Given the description of an element on the screen output the (x, y) to click on. 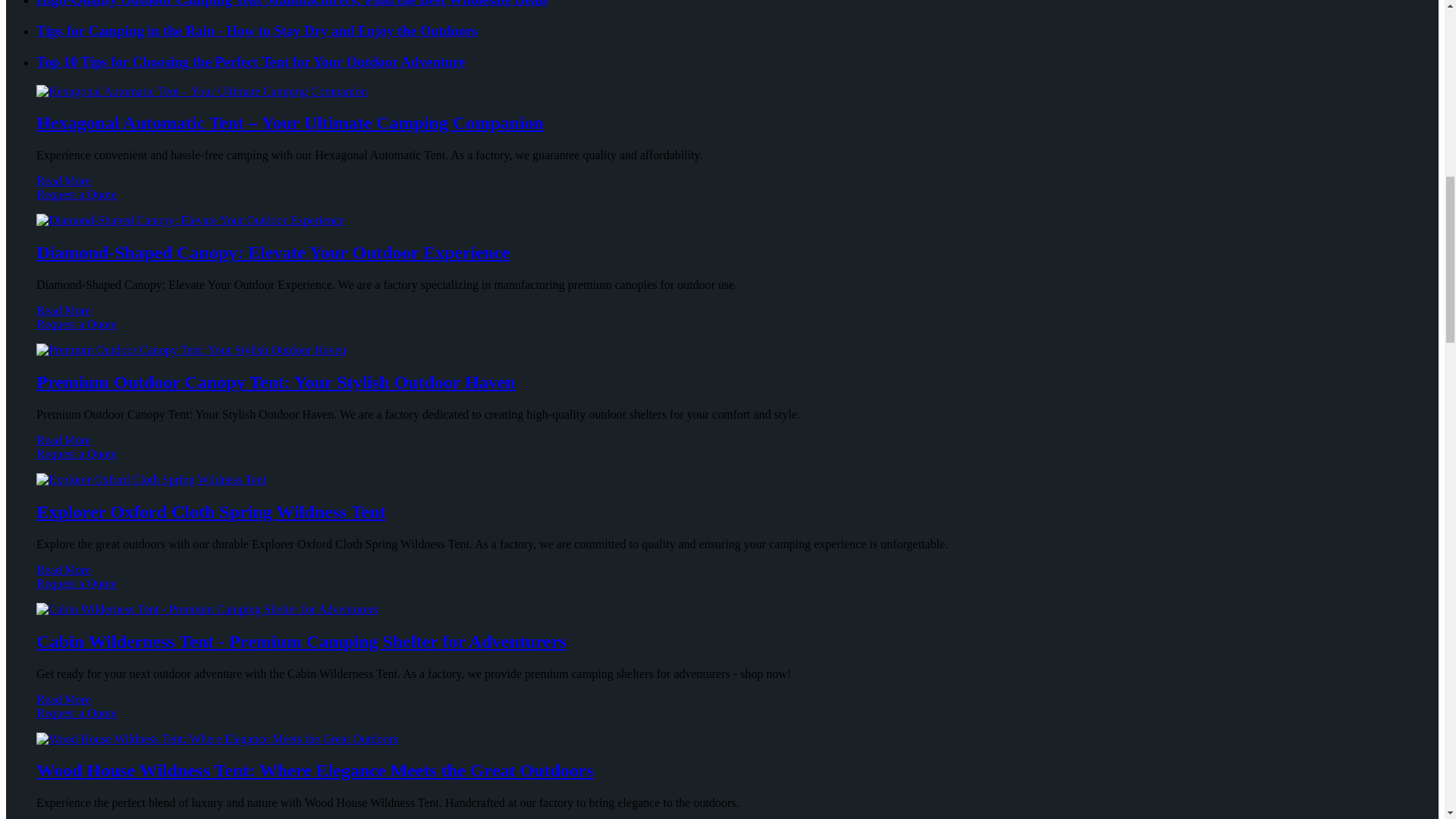
Read More (63, 309)
Request a Quote (721, 201)
Premium Outdoor Canopy Tent: Your Stylish Outdoor Haven (275, 382)
Request a Quote (721, 461)
Read More (63, 440)
Read More (63, 180)
Request a Quote (721, 330)
Diamond-Shaped Canopy: Elevate Your Outdoor Experience (272, 252)
